Given the description of an element on the screen output the (x, y) to click on. 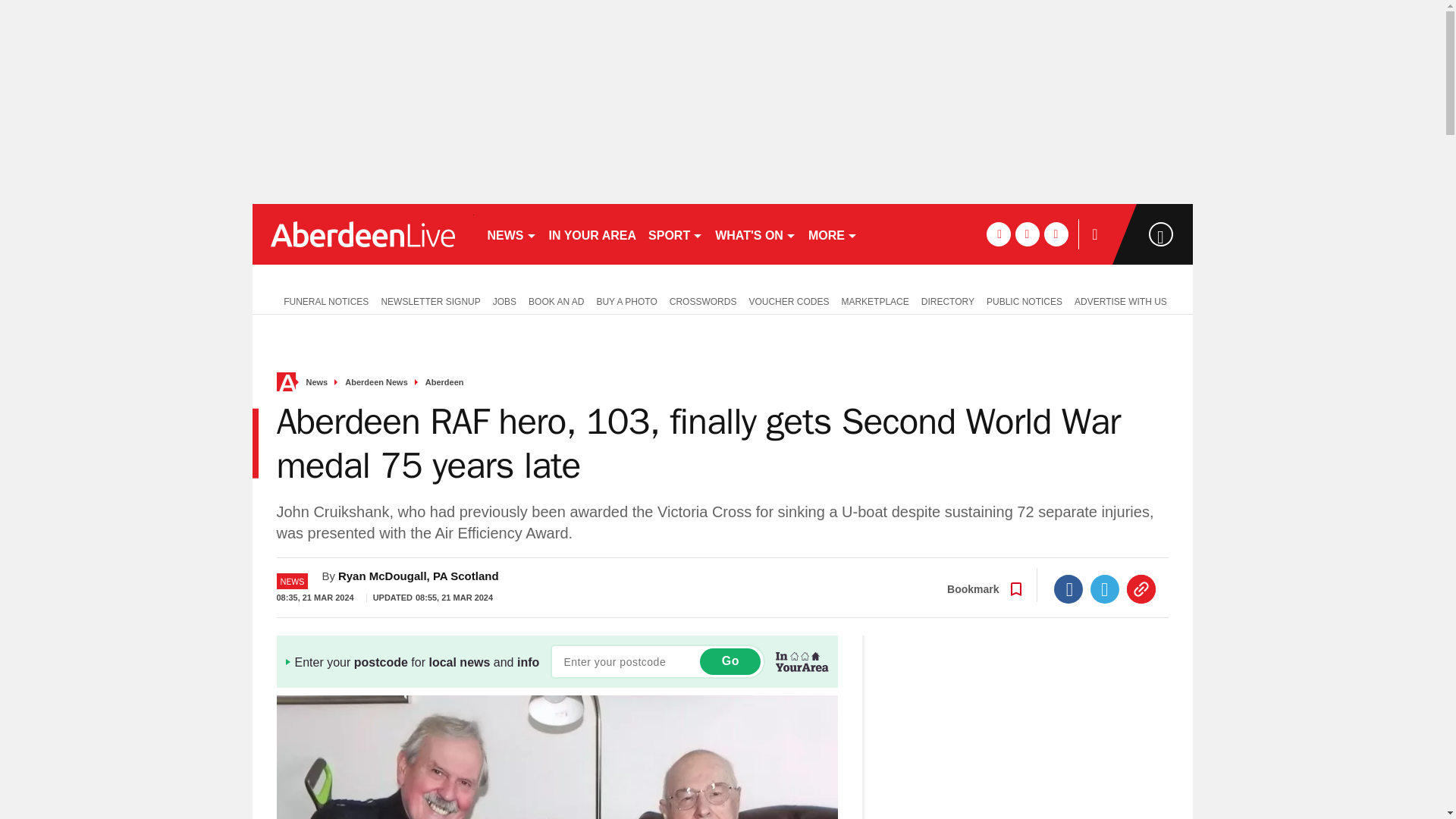
SPORT (675, 233)
aberdeenlive (362, 233)
BOOK AN AD (555, 300)
BUY A PHOTO (625, 300)
CROSSWORDS (702, 300)
twitter (1026, 233)
IN YOUR AREA (593, 233)
MORE (832, 233)
Facebook (1068, 588)
NEWS (510, 233)
FUNERAL NOTICES (322, 300)
instagram (1055, 233)
facebook (997, 233)
Twitter (1104, 588)
Go (730, 661)
